Given the description of an element on the screen output the (x, y) to click on. 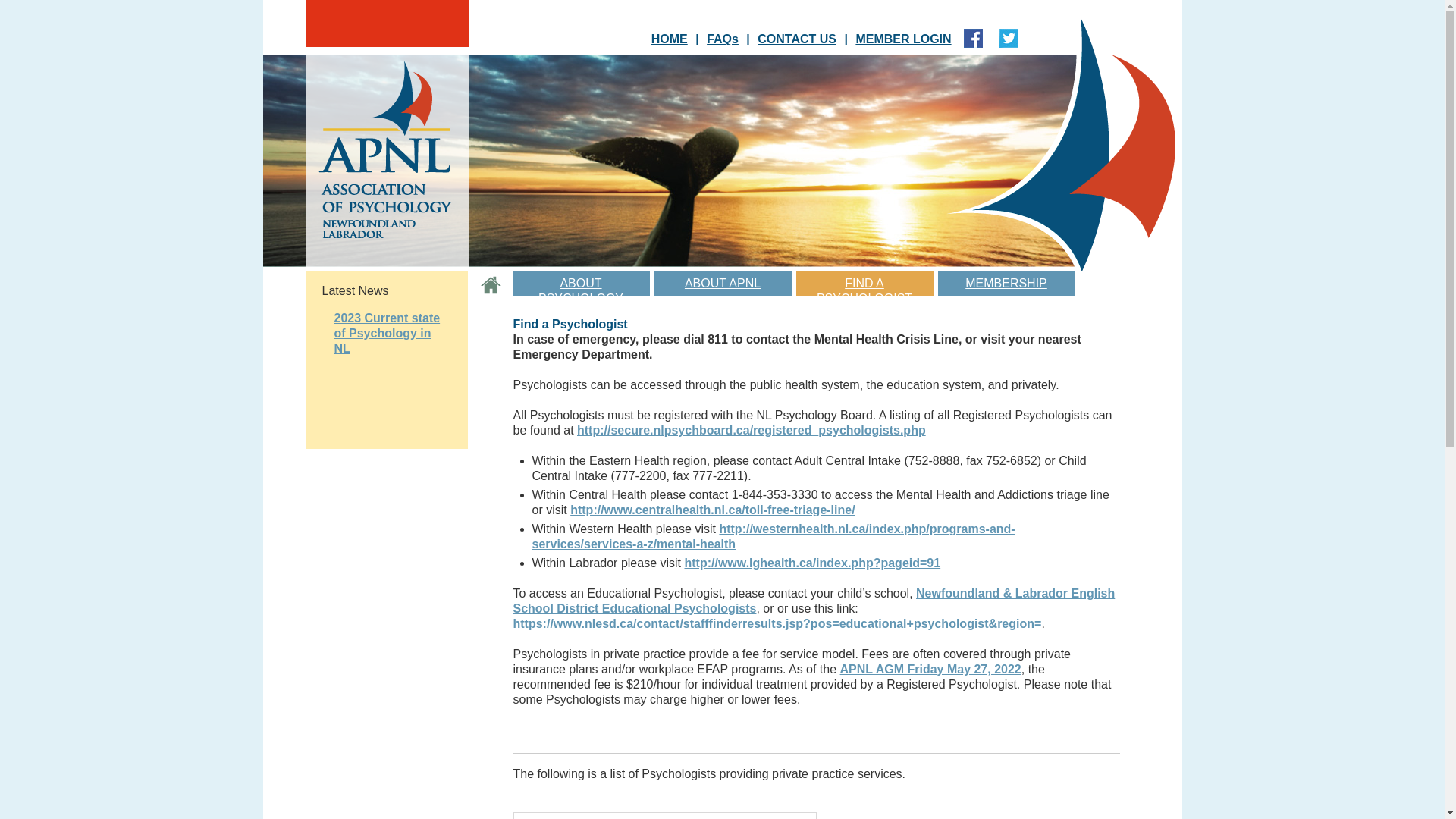
http://www.centralhealth.nl.ca/toll-free-triage-line/ Element type: text (712, 509)
http://secure.nlpsychboard.ca/registered_psychologists.php Element type: text (751, 429)
ABOUT APNL Element type: text (721, 283)
http://www.lghealth.ca/index.php?pageid=91 Element type: text (812, 562)
MEMBERSHIP Element type: text (1005, 283)
CONTACT US Element type: text (796, 38)
MEMBER LOGIN Element type: text (902, 38)
ABOUT PSYCHOLOGY Element type: text (580, 283)
FAQs Element type: text (722, 38)
HOME Element type: text (669, 38)
2023 Current state of Psychology in NL Element type: text (386, 332)
FIND A PSYCHOLOGIST Element type: text (864, 283)
APNL AGM Friday May 27, 2022 Element type: text (930, 668)
